Given the description of an element on the screen output the (x, y) to click on. 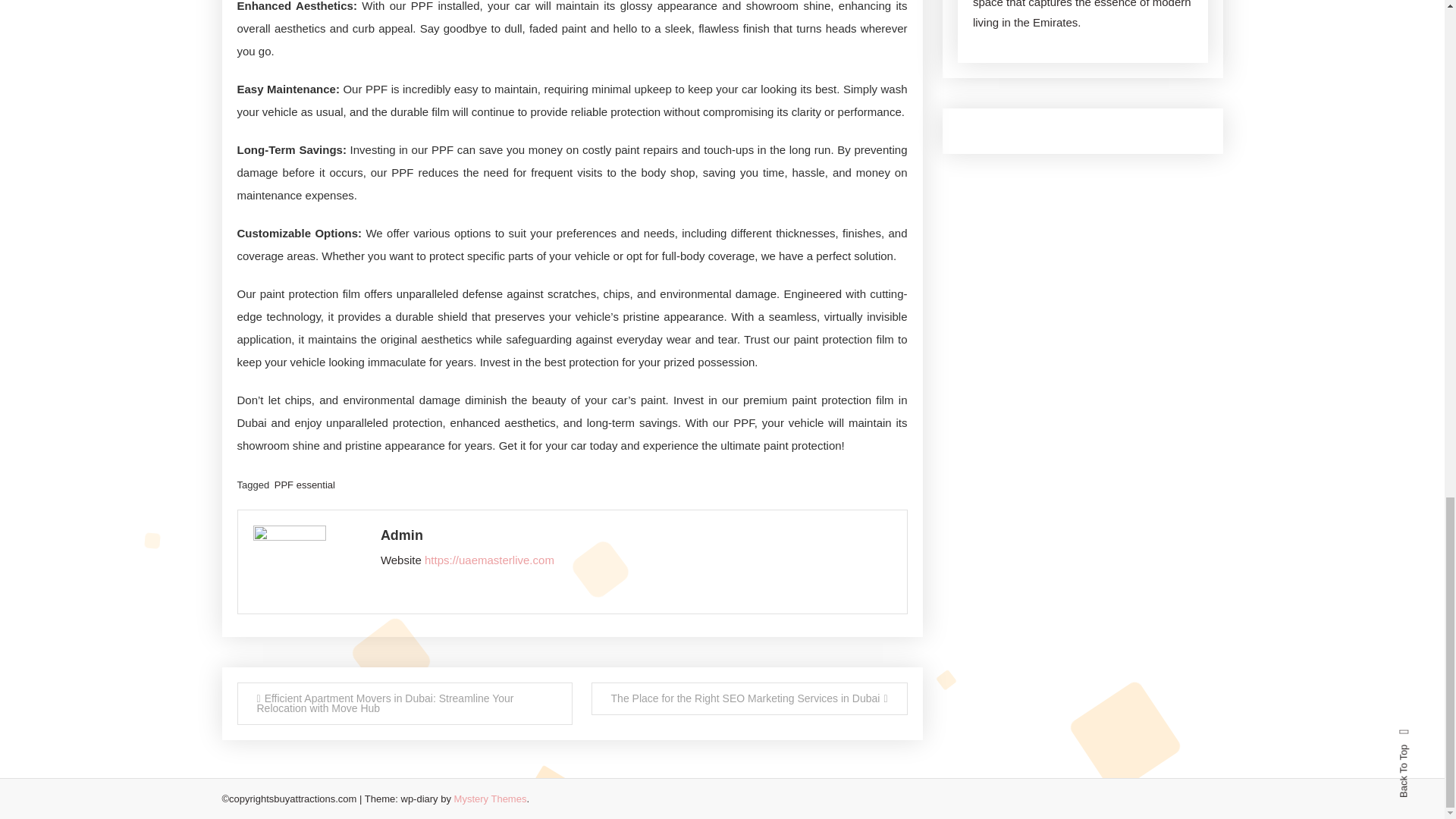
Posts by admin (635, 535)
The Place for the Right SEO Marketing Services in Dubai (749, 698)
PPF essential (304, 484)
Admin (635, 535)
